Given the description of an element on the screen output the (x, y) to click on. 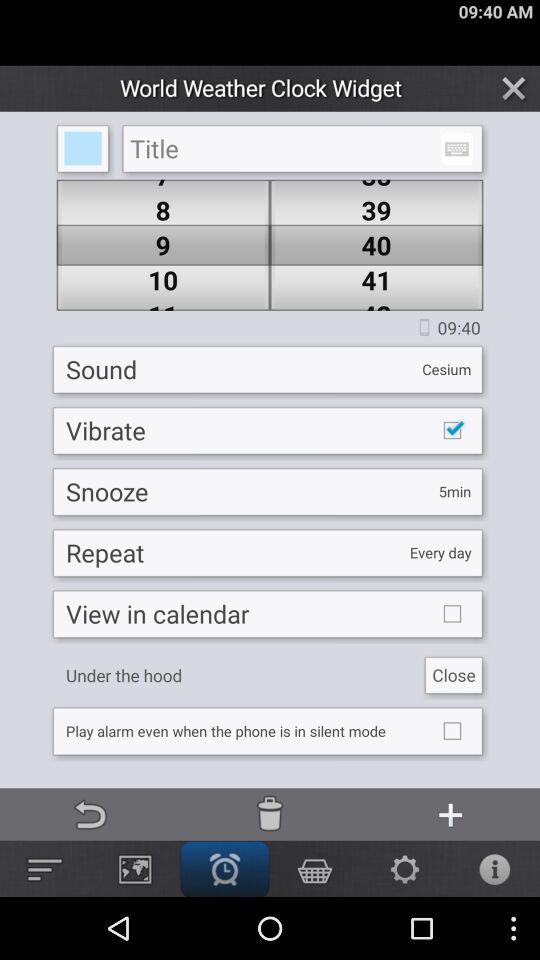
opens an onl screen keyboard (456, 148)
